Given the description of an element on the screen output the (x, y) to click on. 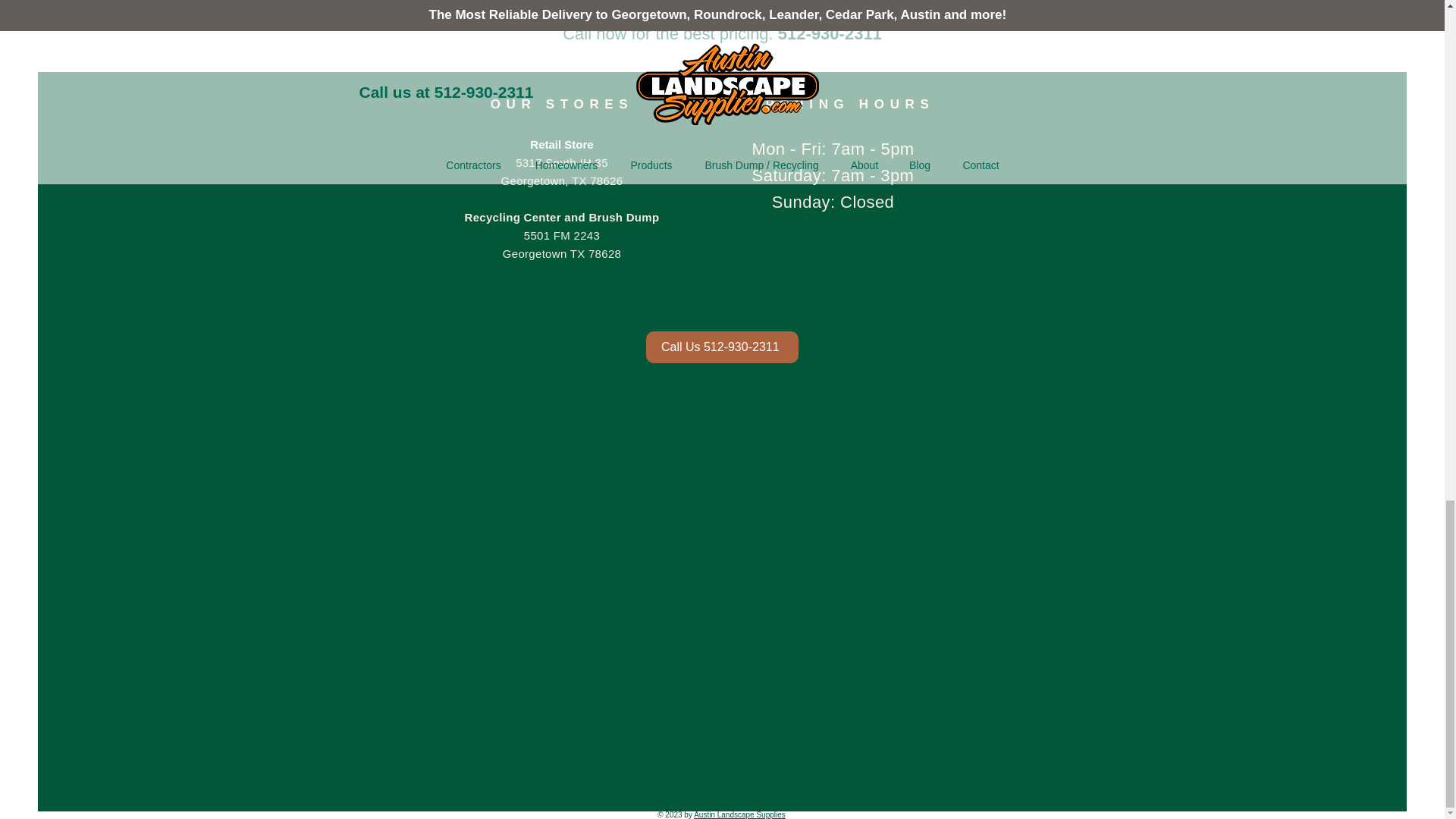
Call Us 512-930-2311 (721, 347)
